Given the description of an element on the screen output the (x, y) to click on. 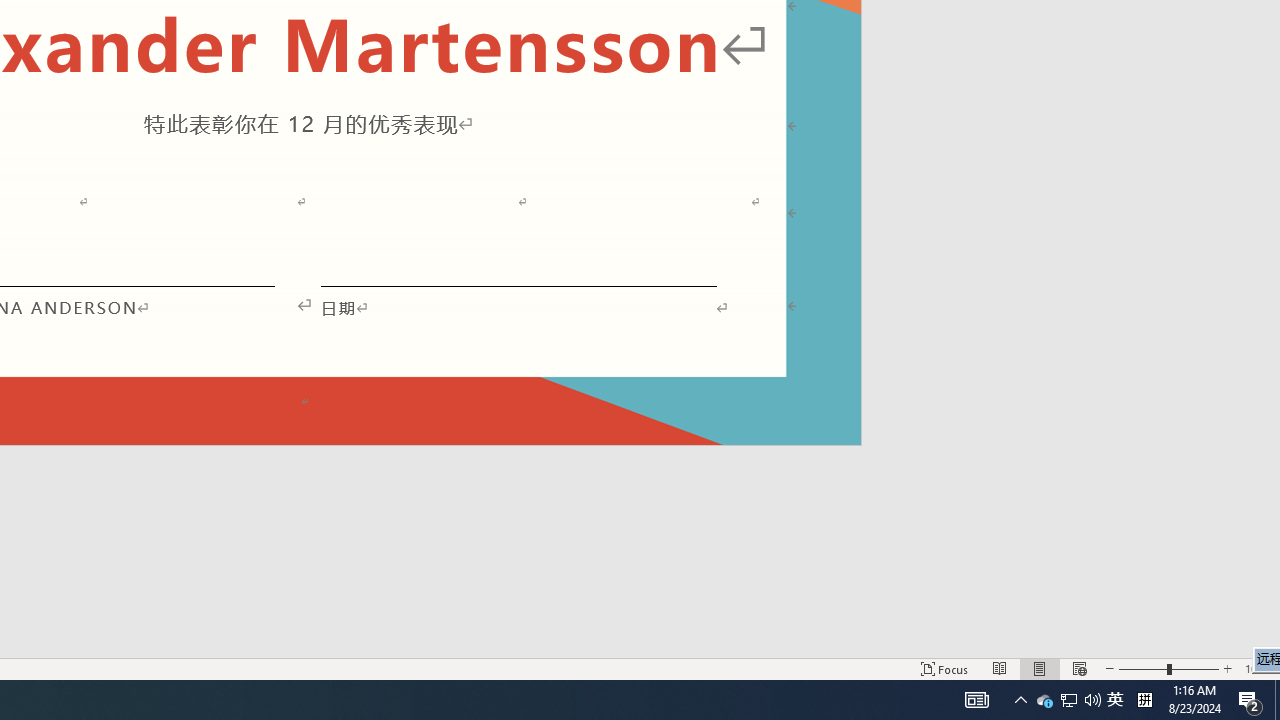
Action Center, 2 new notifications (1250, 699)
Q2790: 100% (1092, 699)
Tray Input Indicator - Chinese (Simplified, China) (1144, 699)
